Given the description of an element on the screen output the (x, y) to click on. 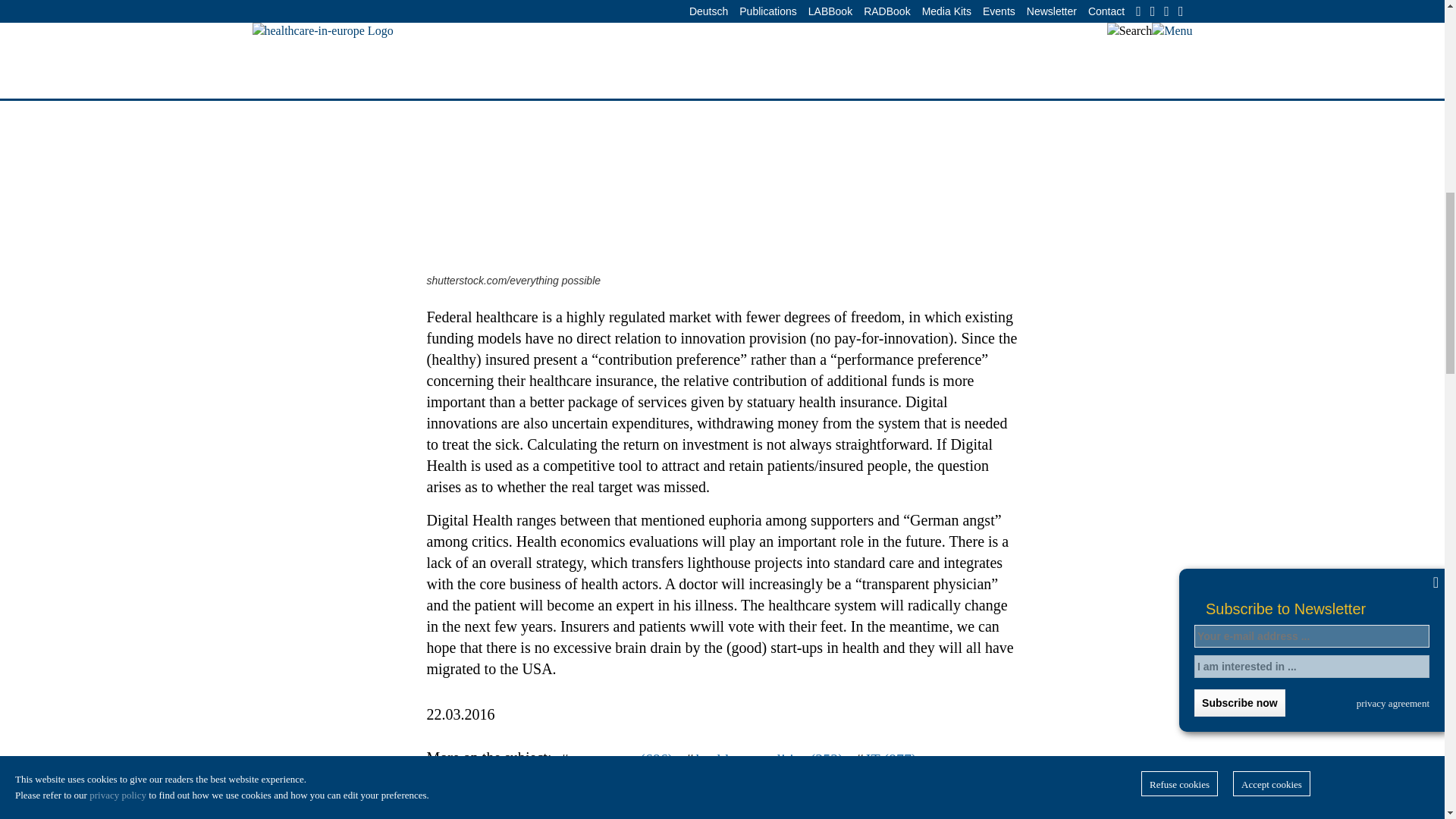
Read all latest stories (875, 804)
